Given the description of an element on the screen output the (x, y) to click on. 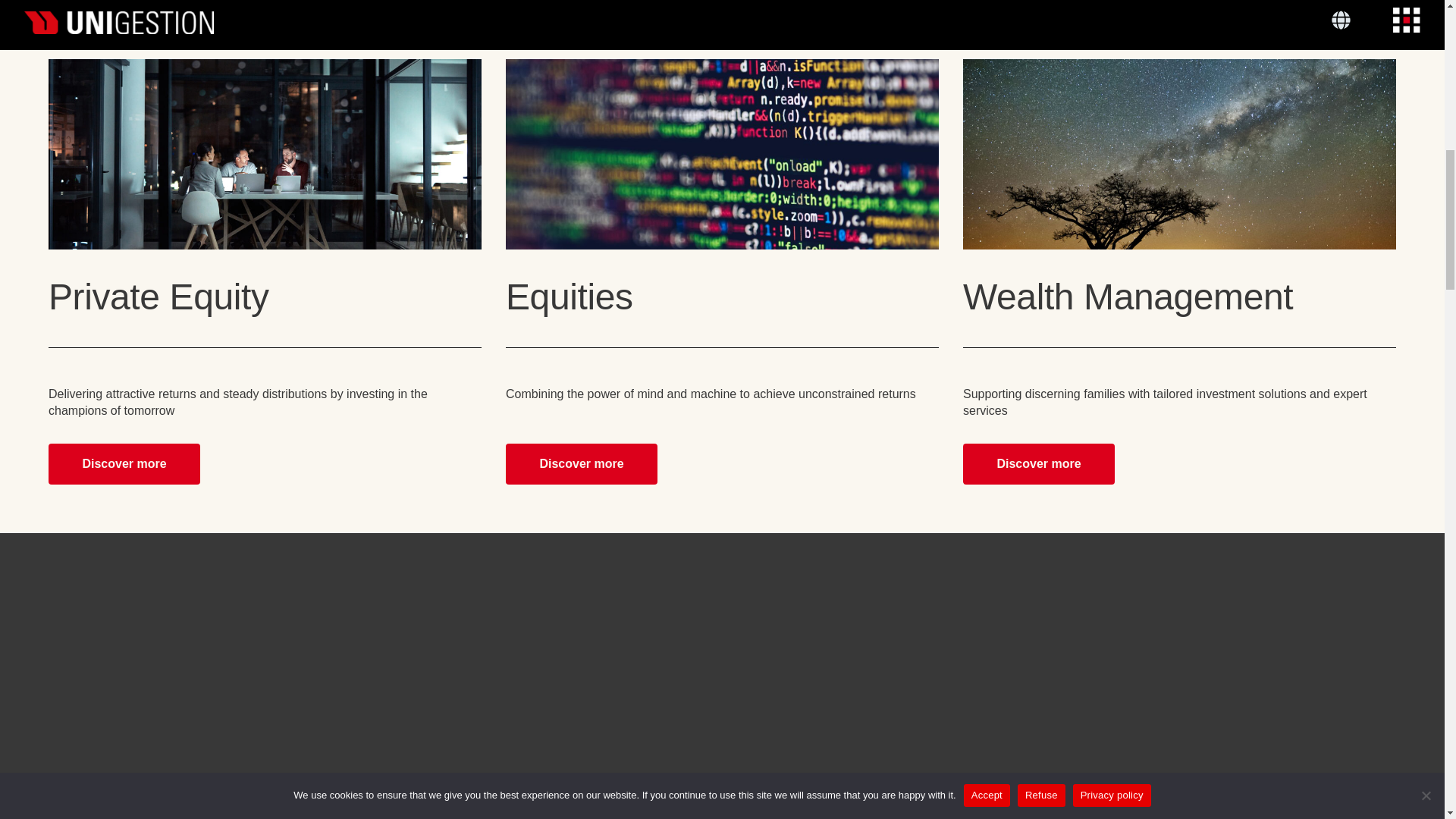
Discover more (124, 463)
Discover more (581, 463)
Discover more (1038, 463)
